Given the description of an element on the screen output the (x, y) to click on. 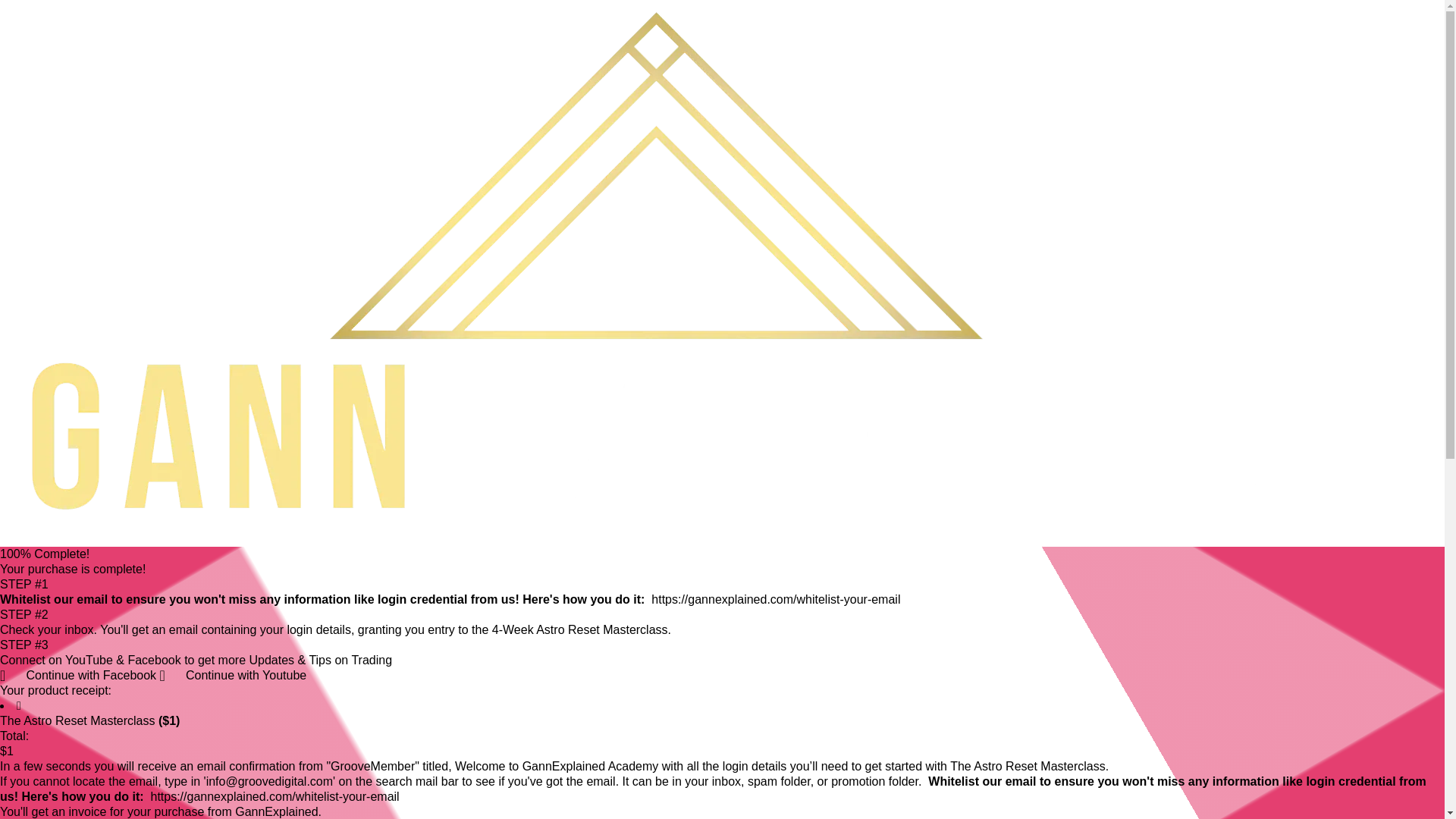
Continue with Youtube (233, 675)
Continue with Facebook (80, 675)
